Given the description of an element on the screen output the (x, y) to click on. 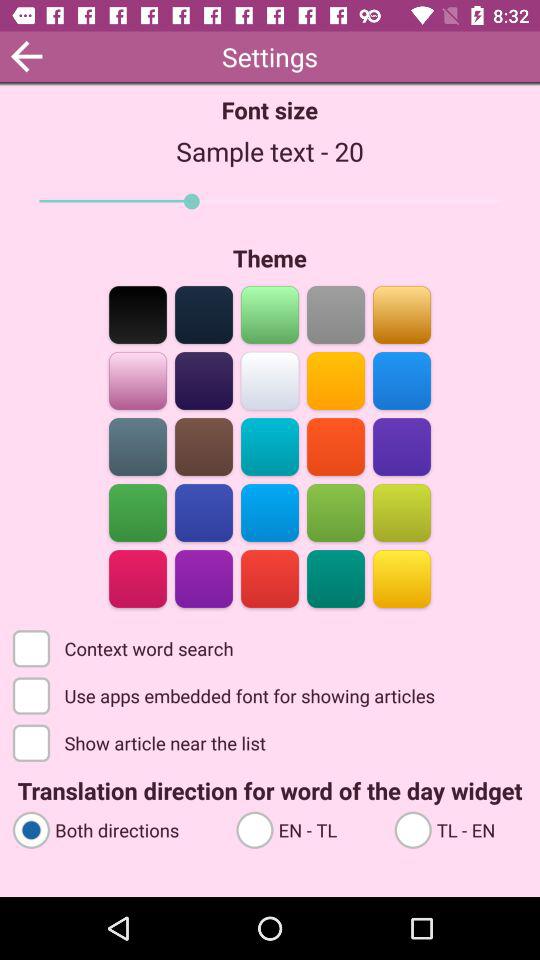
selects color (335, 577)
